Given the description of an element on the screen output the (x, y) to click on. 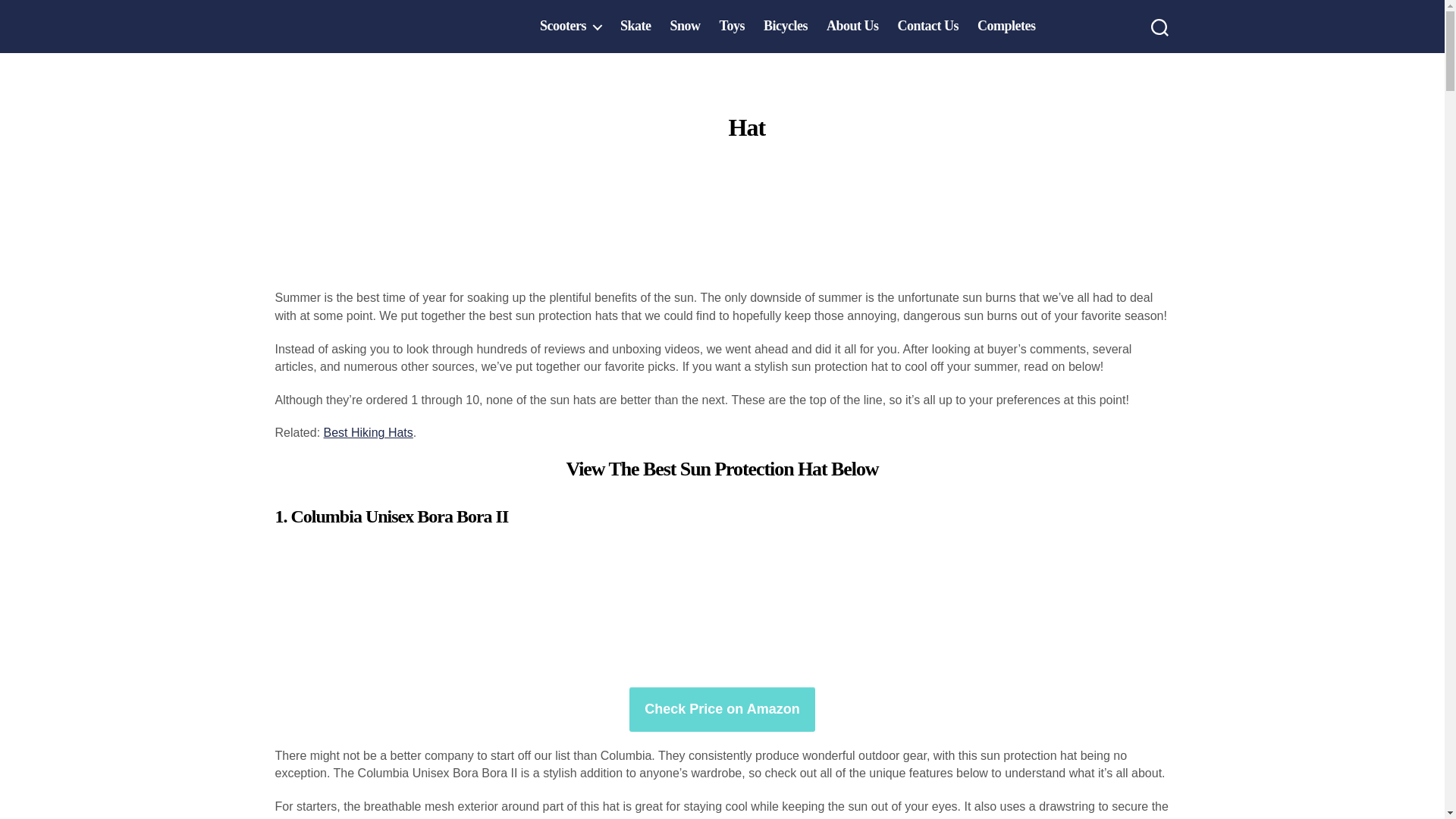
Bicycles (785, 26)
Snow (684, 26)
Contact Us (927, 26)
Check Price on Amazon (720, 709)
Best Hiking Hats (368, 431)
Skate (635, 26)
Toys (731, 26)
Check Price on Amazon (720, 709)
Completes (1005, 26)
